Given the description of an element on the screen output the (x, y) to click on. 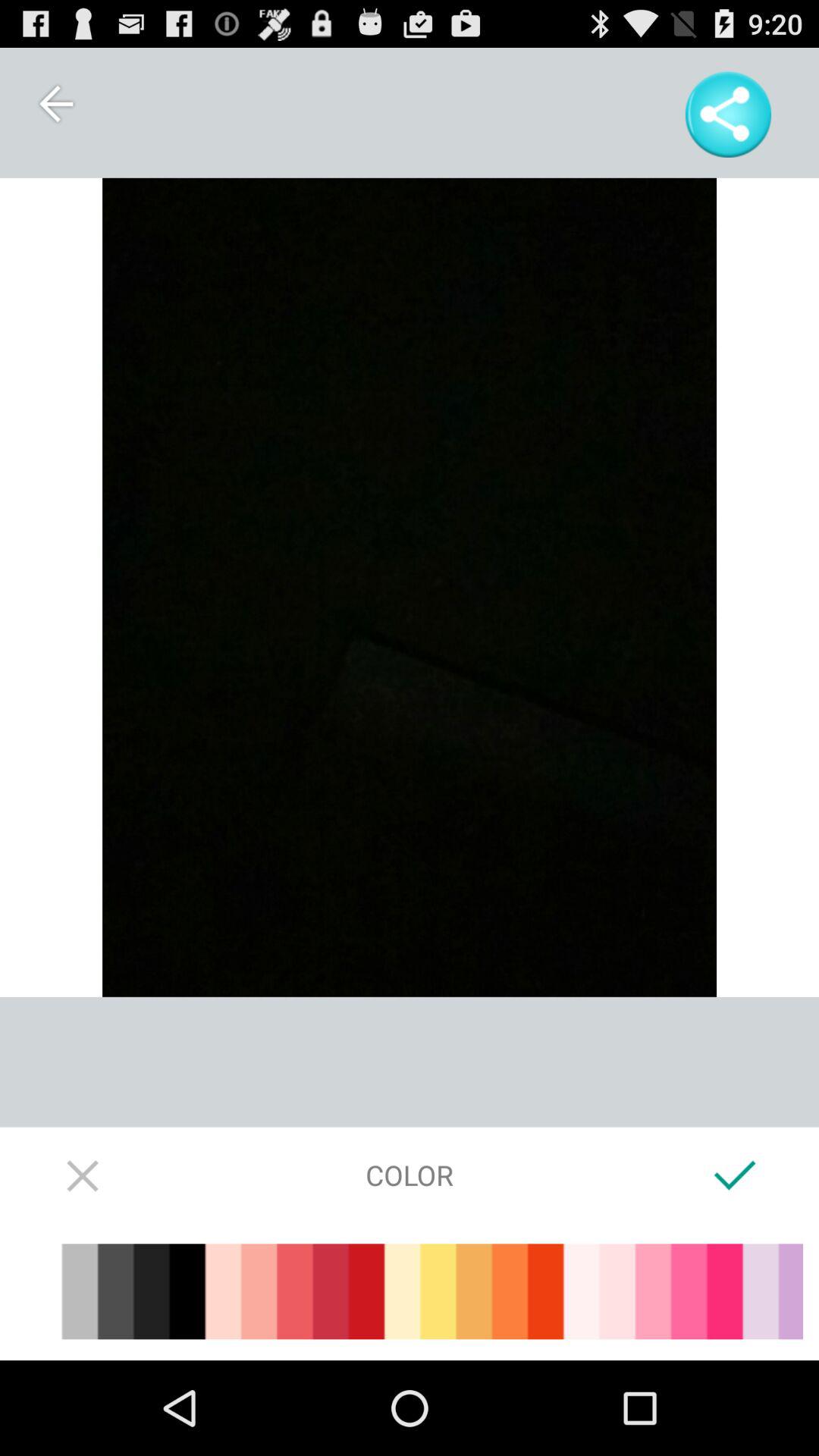
stop or exit out (83, 1174)
